Given the description of an element on the screen output the (x, y) to click on. 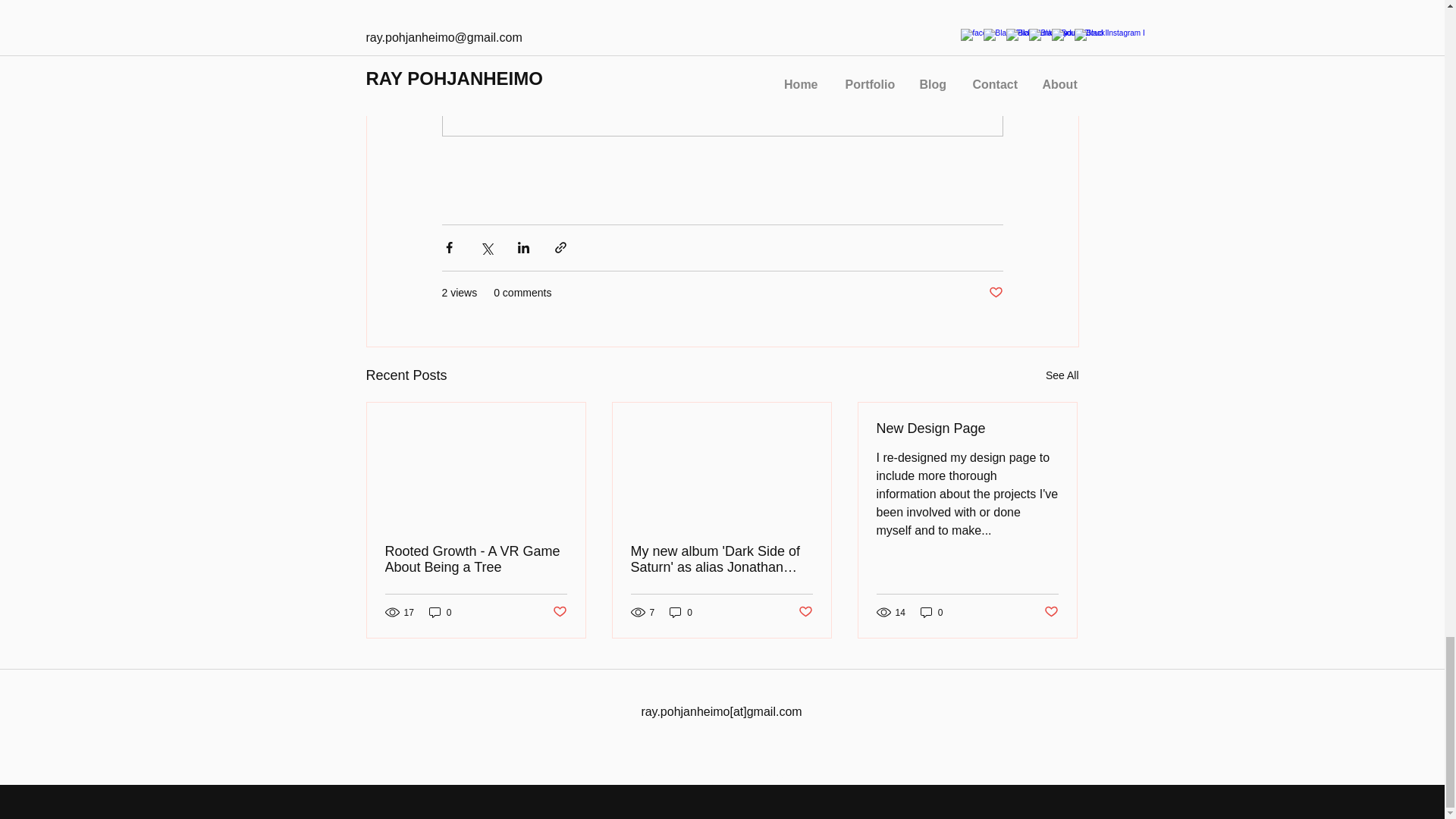
Post not marked as liked (558, 611)
Rooted Growth - A VR Game About Being a Tree (476, 559)
Post not marked as liked (804, 611)
0 (440, 612)
Post not marked as liked (995, 293)
New Design Page (967, 428)
0 (681, 612)
See All (1061, 375)
